Given the description of an element on the screen output the (x, y) to click on. 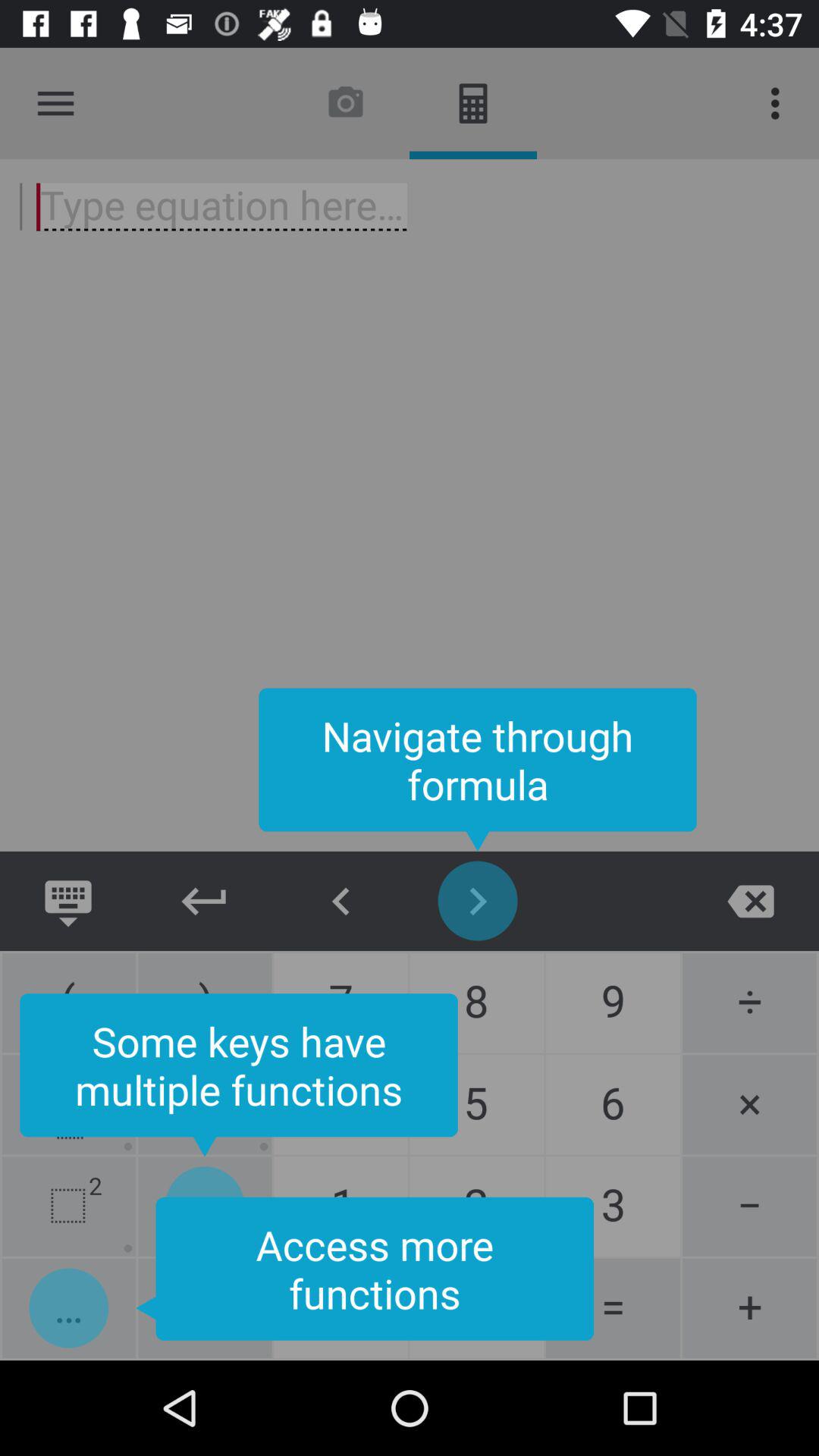
move right in formula (477, 900)
